Given the description of an element on the screen output the (x, y) to click on. 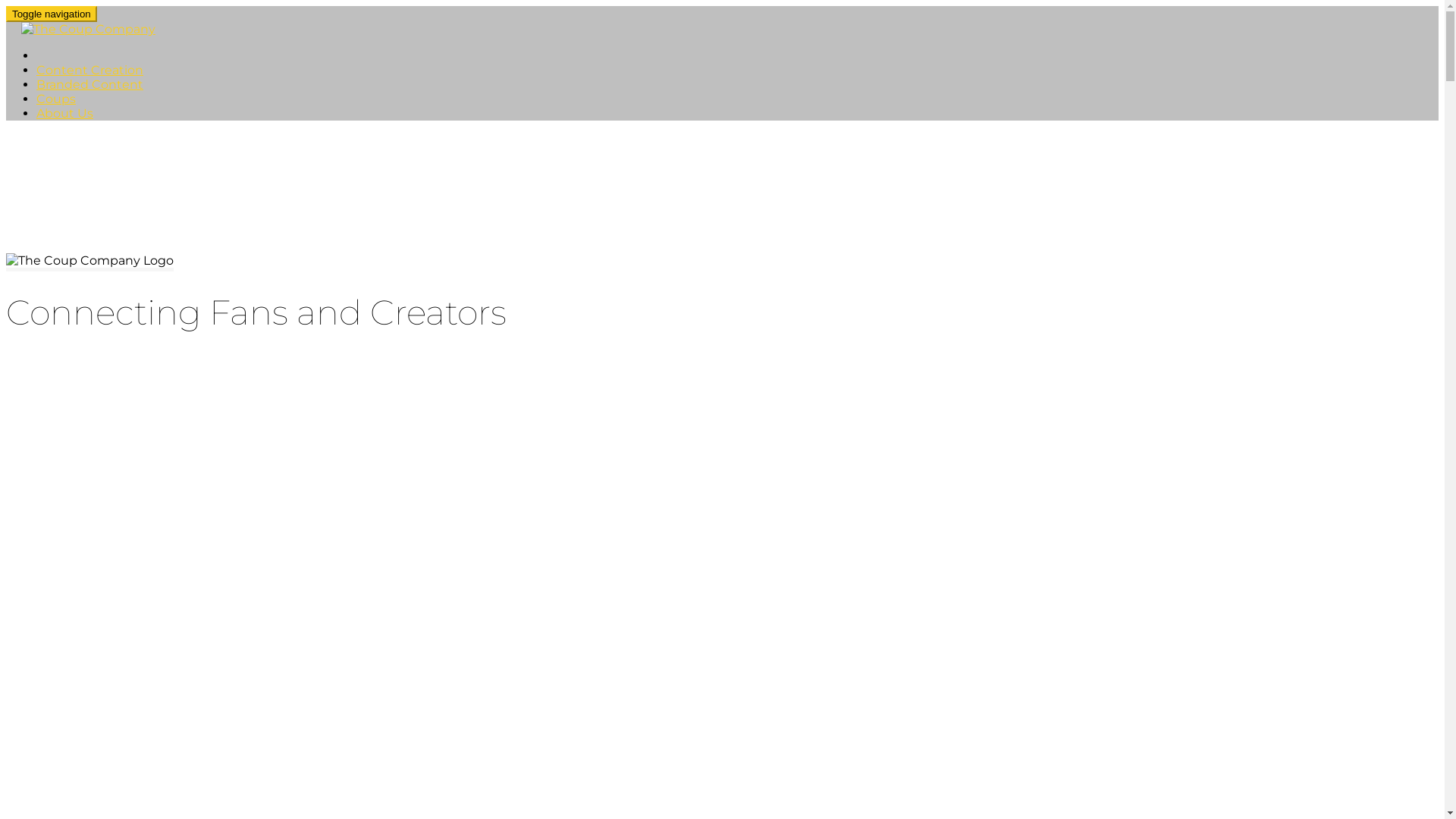
Content Creation Element type: text (89, 69)
Toggle navigation Element type: text (51, 13)
Coups Element type: text (55, 98)
Branded Content Element type: text (89, 84)
About Us Element type: text (64, 113)
